Given the description of an element on the screen output the (x, y) to click on. 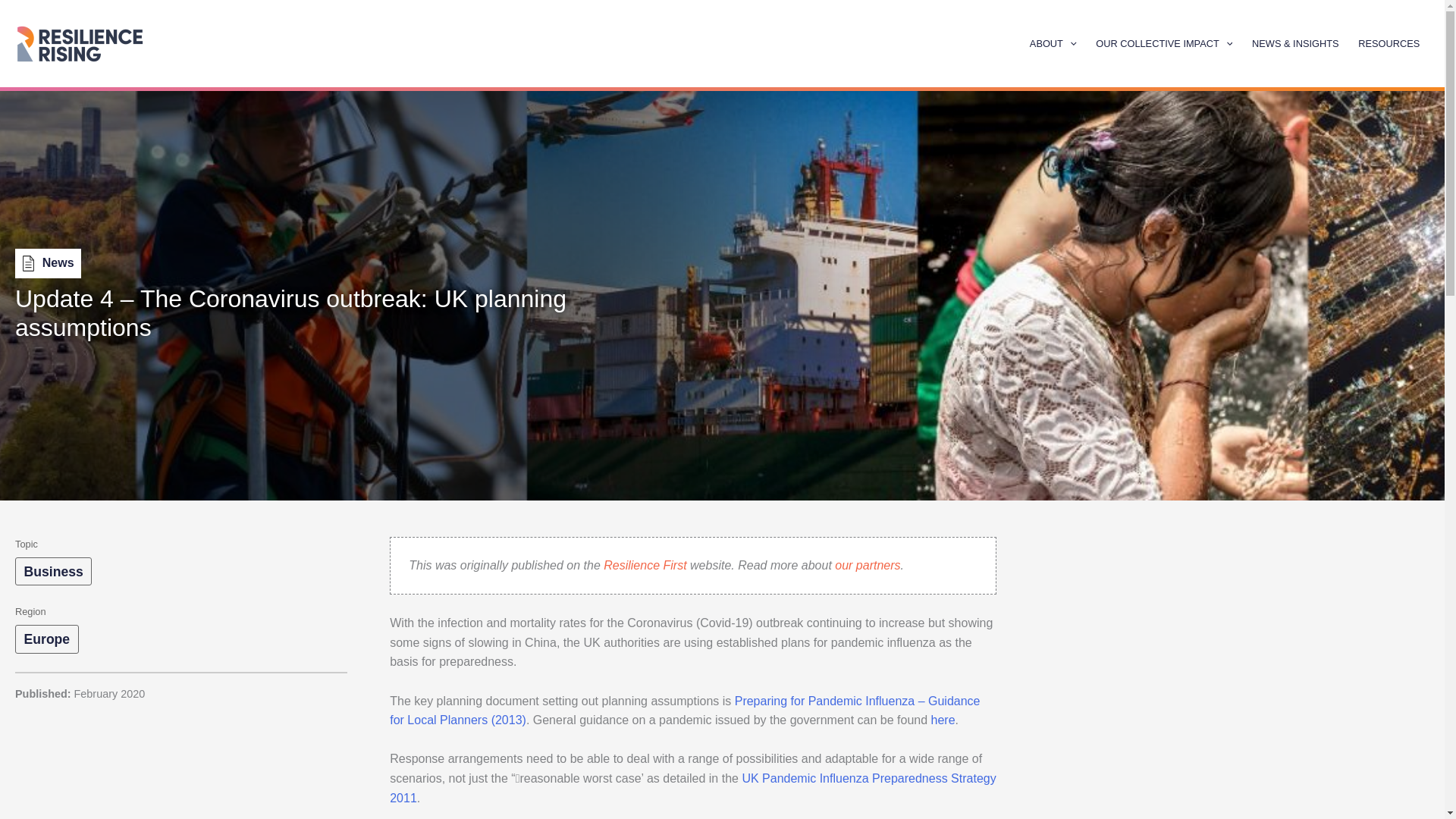
Business (52, 571)
ABOUT (1053, 42)
RESOURCES (1388, 42)
Resilience First (644, 564)
Europe (46, 638)
OUR COLLECTIVE IMPACT (1163, 42)
News (47, 262)
